Given the description of an element on the screen output the (x, y) to click on. 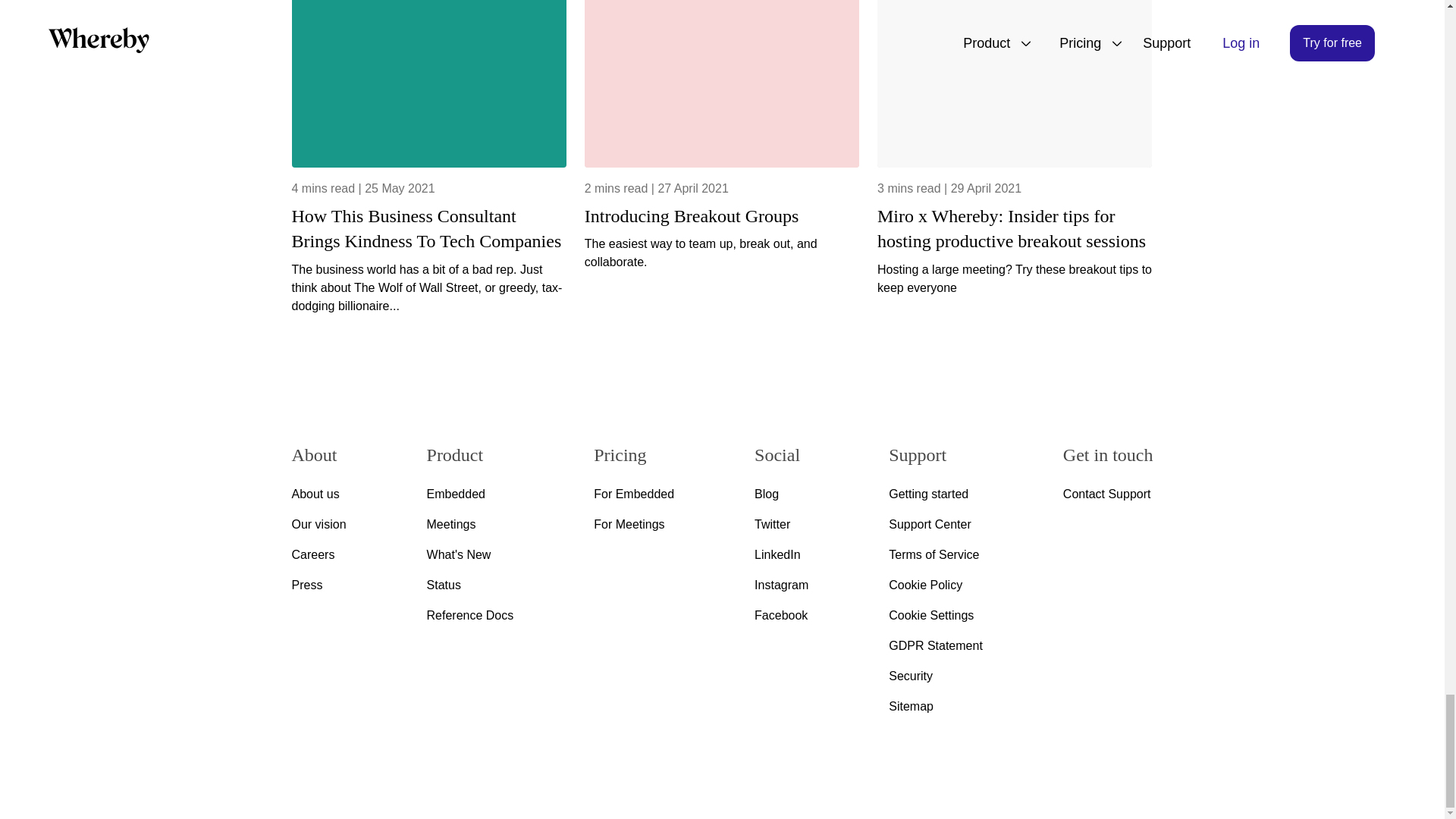
Introducing Breakout Groups (722, 216)
The easiest way to team up, break out, and collaborate. (722, 253)
About us (318, 494)
Careers (318, 555)
Our vision (318, 524)
Press (318, 585)
